Given the description of an element on the screen output the (x, y) to click on. 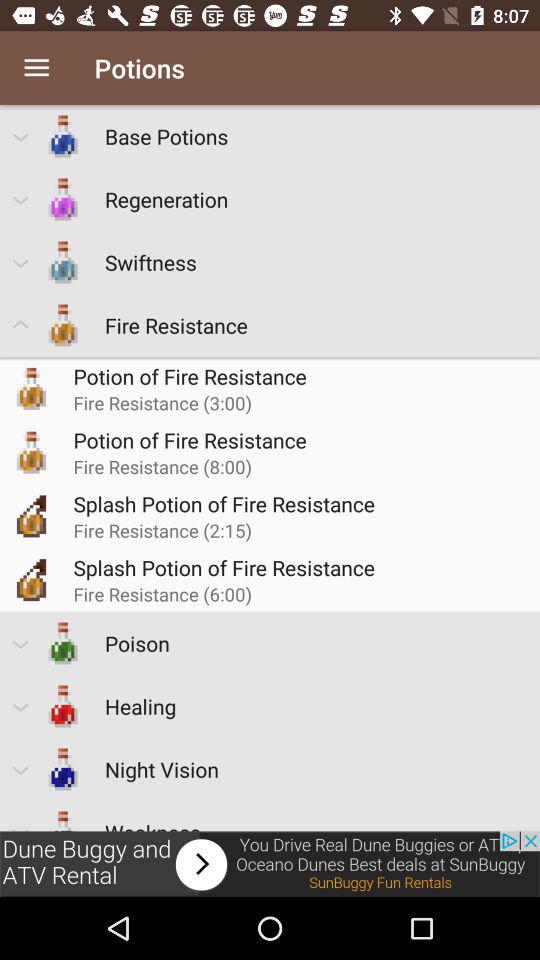
go through advertisement (270, 864)
